Given the description of an element on the screen output the (x, y) to click on. 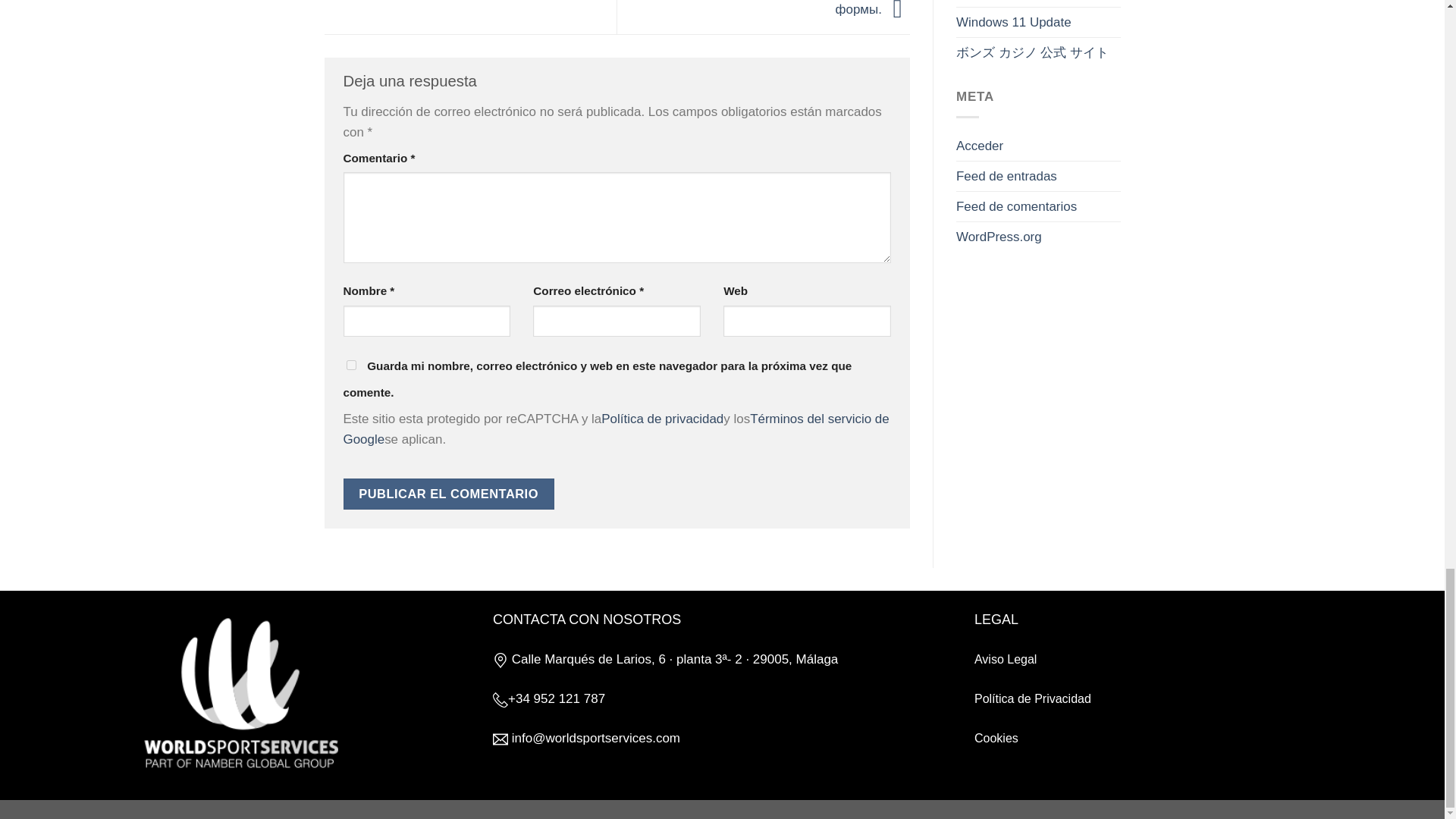
yes (350, 365)
Publicar el comentario (447, 493)
Publicar el comentario (447, 493)
